Given the description of an element on the screen output the (x, y) to click on. 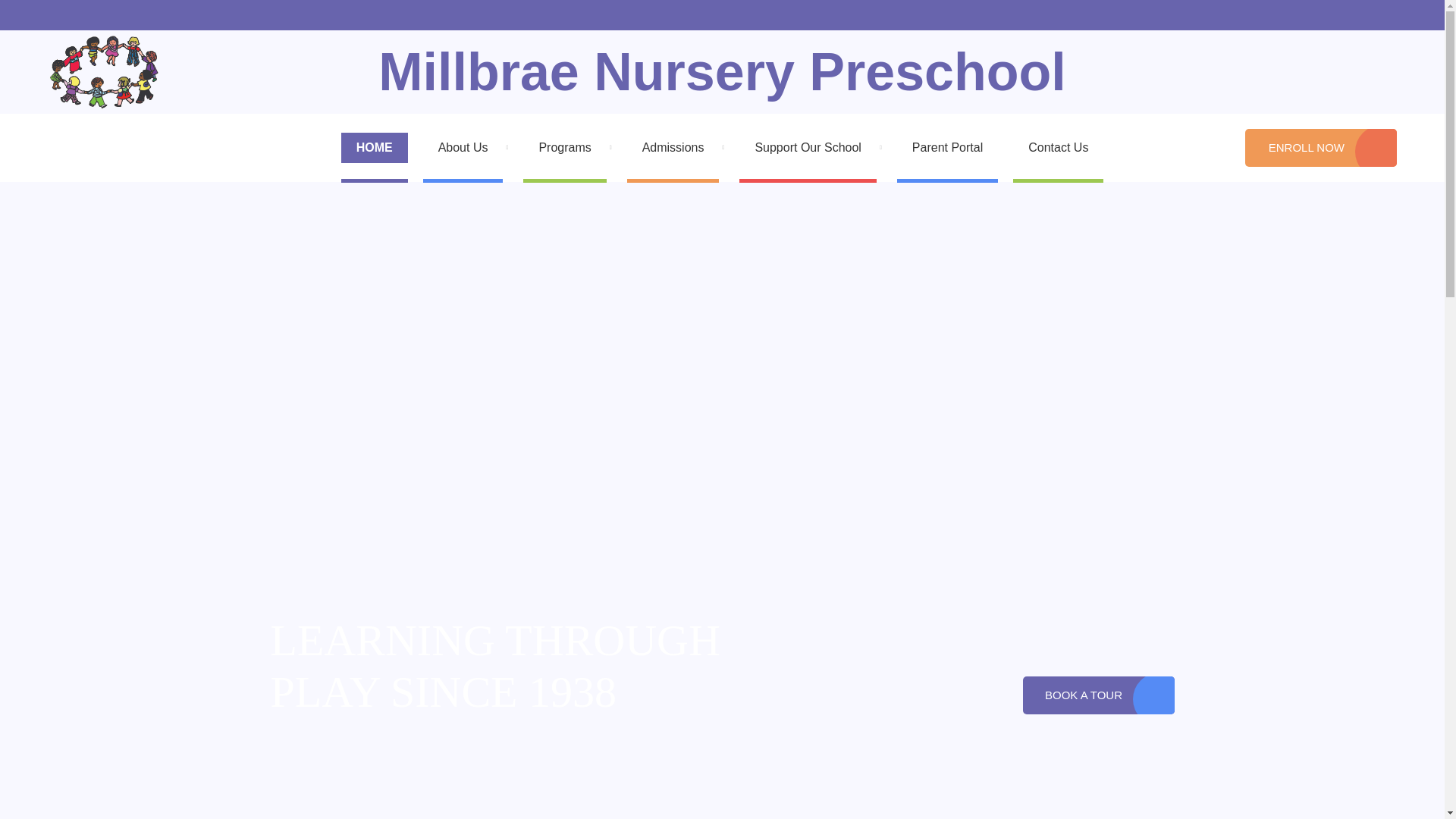
Programs (566, 147)
ENROLL NOW (1320, 147)
About Us (465, 147)
HOME (373, 147)
Admissions (676, 147)
BOOK A TOUR (1097, 695)
Contact Us (1058, 147)
Parent Portal (946, 147)
Support Our School (809, 147)
Contact Us (1097, 695)
